Given the description of an element on the screen output the (x, y) to click on. 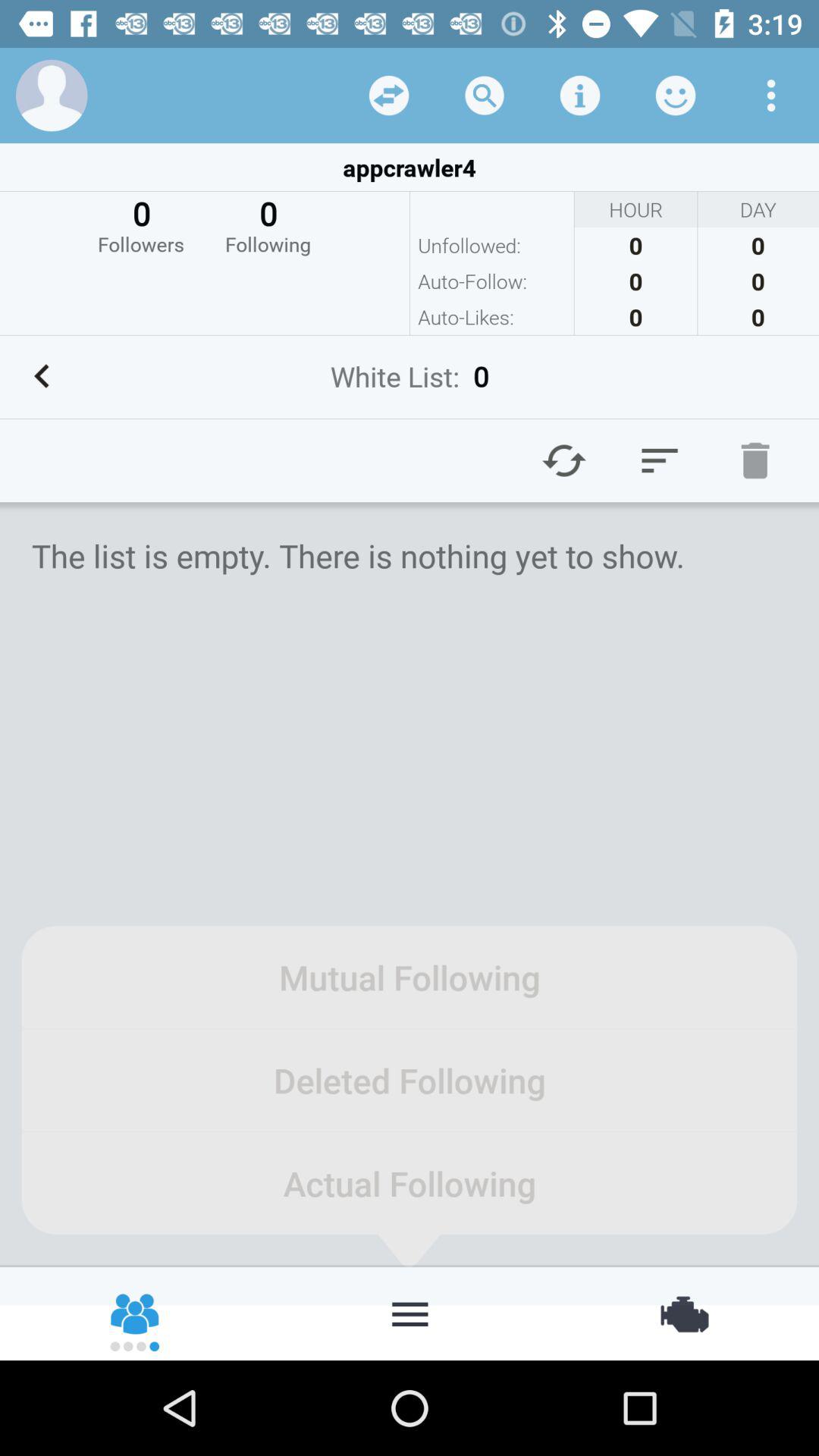
expand (388, 95)
